Given the description of an element on the screen output the (x, y) to click on. 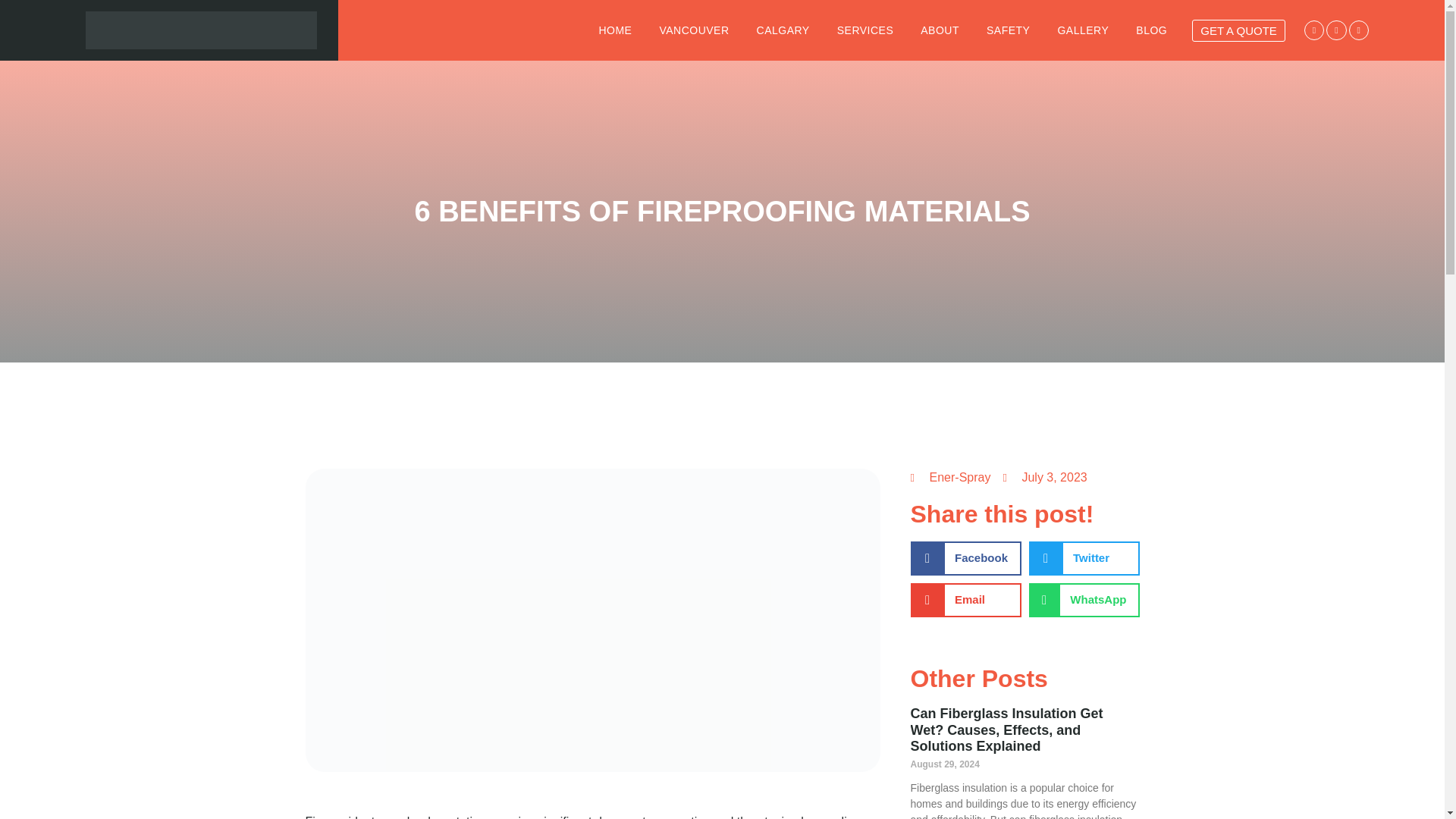
SERVICES (865, 30)
ABOUT (939, 30)
CALGARY (783, 30)
BLOG (1151, 30)
SAFETY (1007, 30)
VANCOUVER (693, 30)
HOME (614, 30)
GALLERY (1083, 30)
GET A QUOTE (1238, 30)
